Given the description of an element on the screen output the (x, y) to click on. 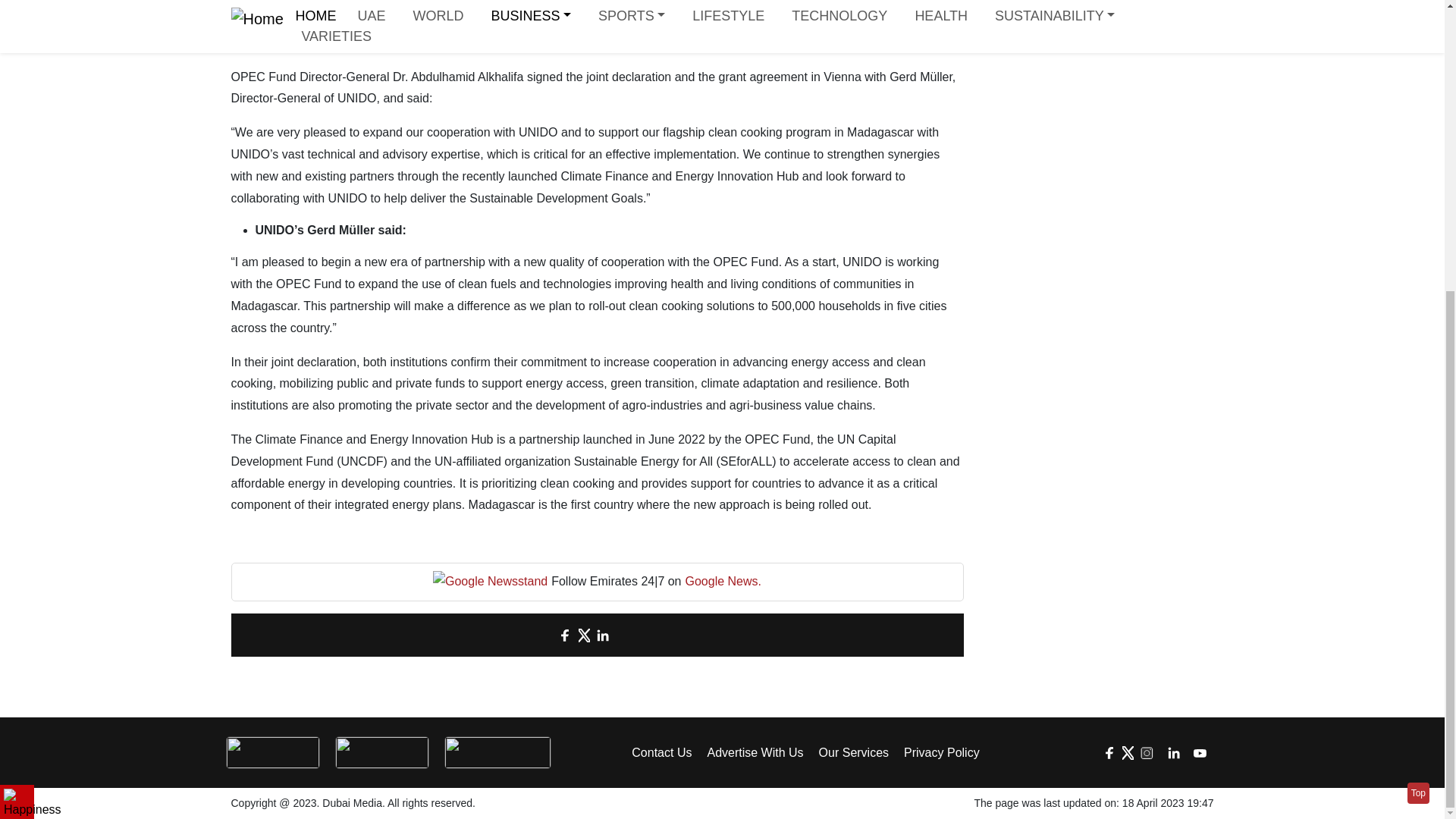
Go to top (1418, 348)
Google News. (723, 581)
